Given the description of an element on the screen output the (x, y) to click on. 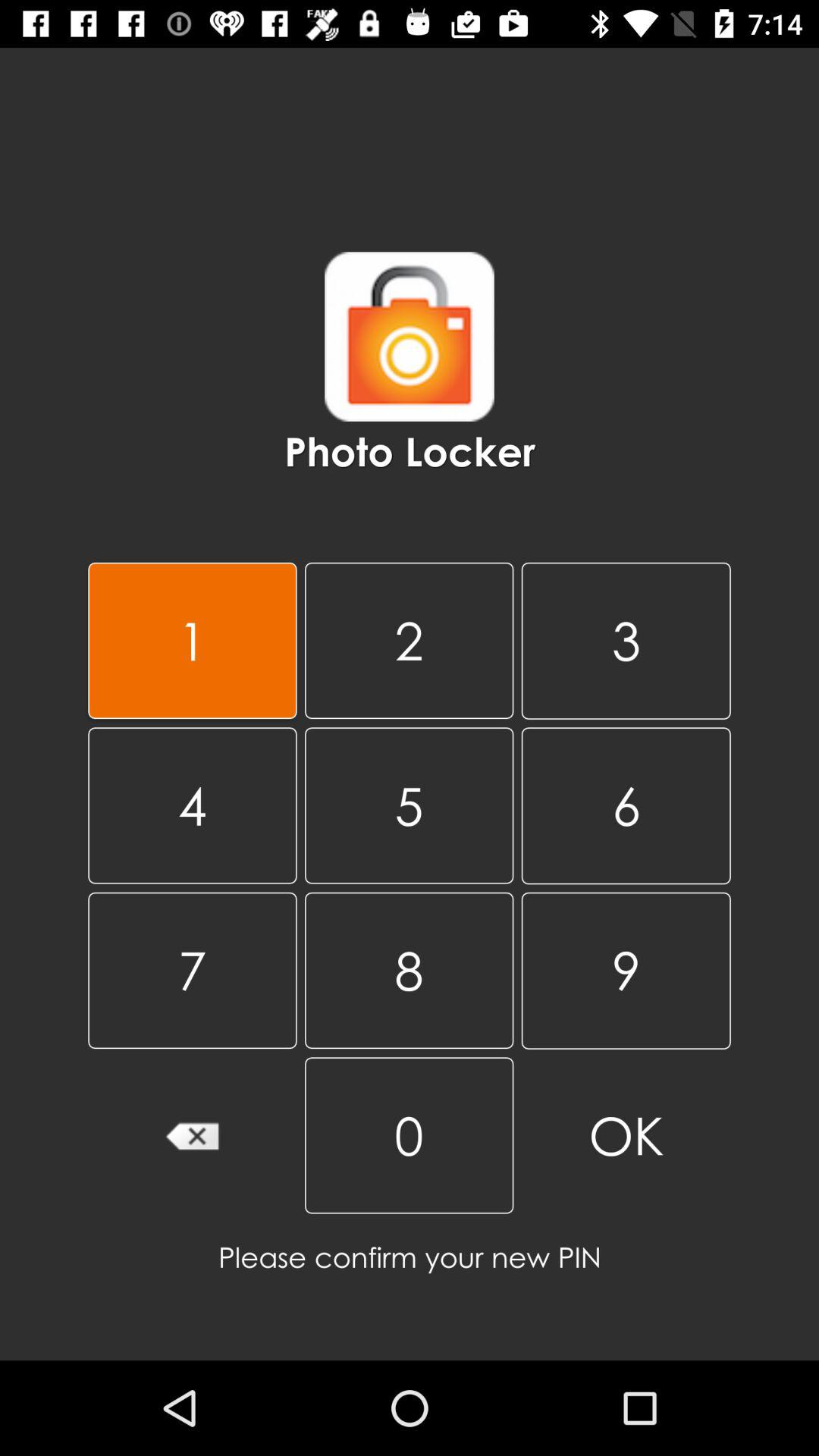
turn on item next to the 1 icon (408, 640)
